Given the description of an element on the screen output the (x, y) to click on. 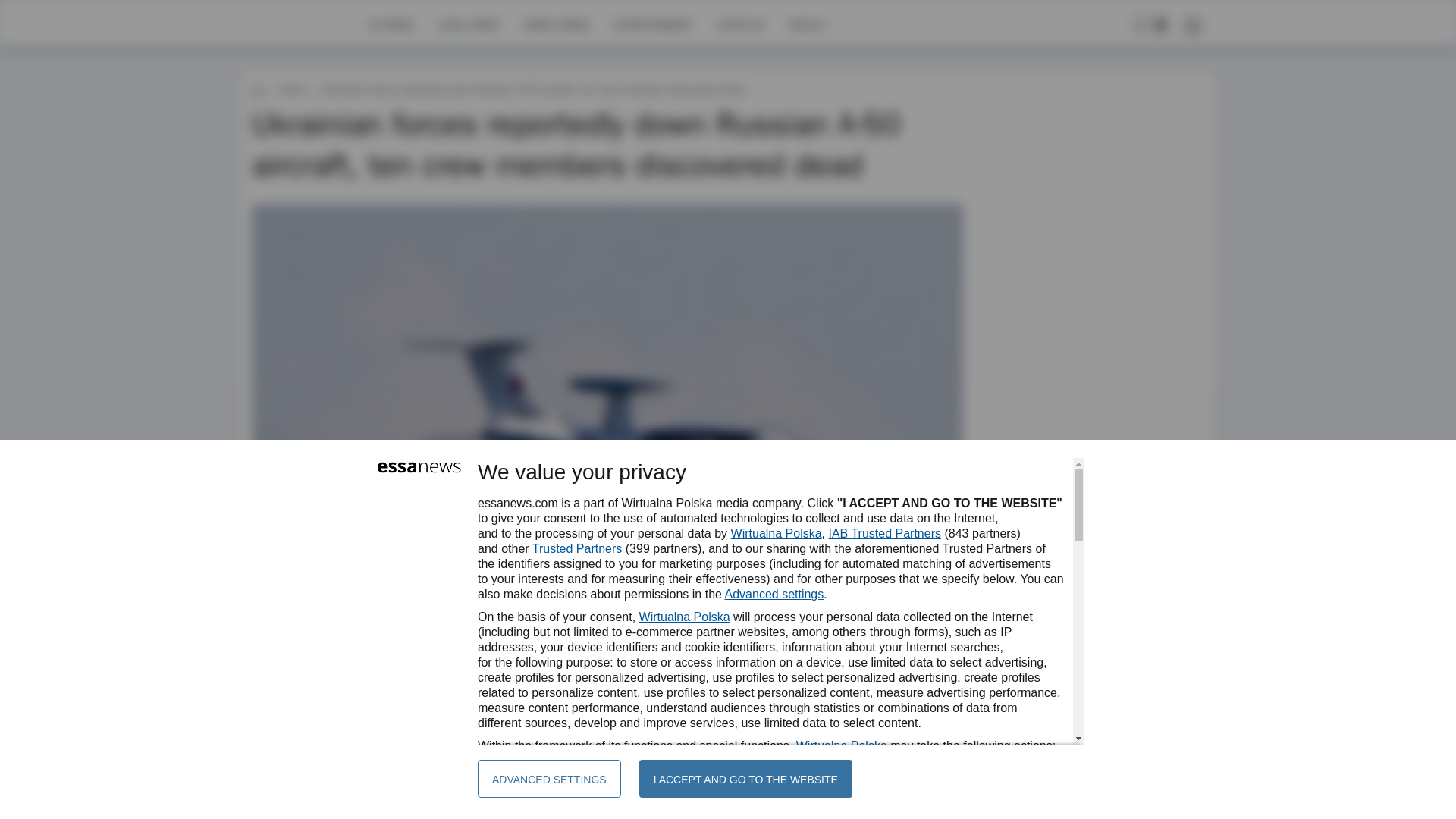
News (291, 89)
SHARE (936, 649)
Homepage (305, 24)
HEALTH (807, 24)
US NEWS (390, 24)
ENTERTAINMENT (652, 24)
News (291, 89)
PAB (298, 641)
essanews.com (257, 89)
WORLD NEWS (555, 24)
